Given the description of an element on the screen output the (x, y) to click on. 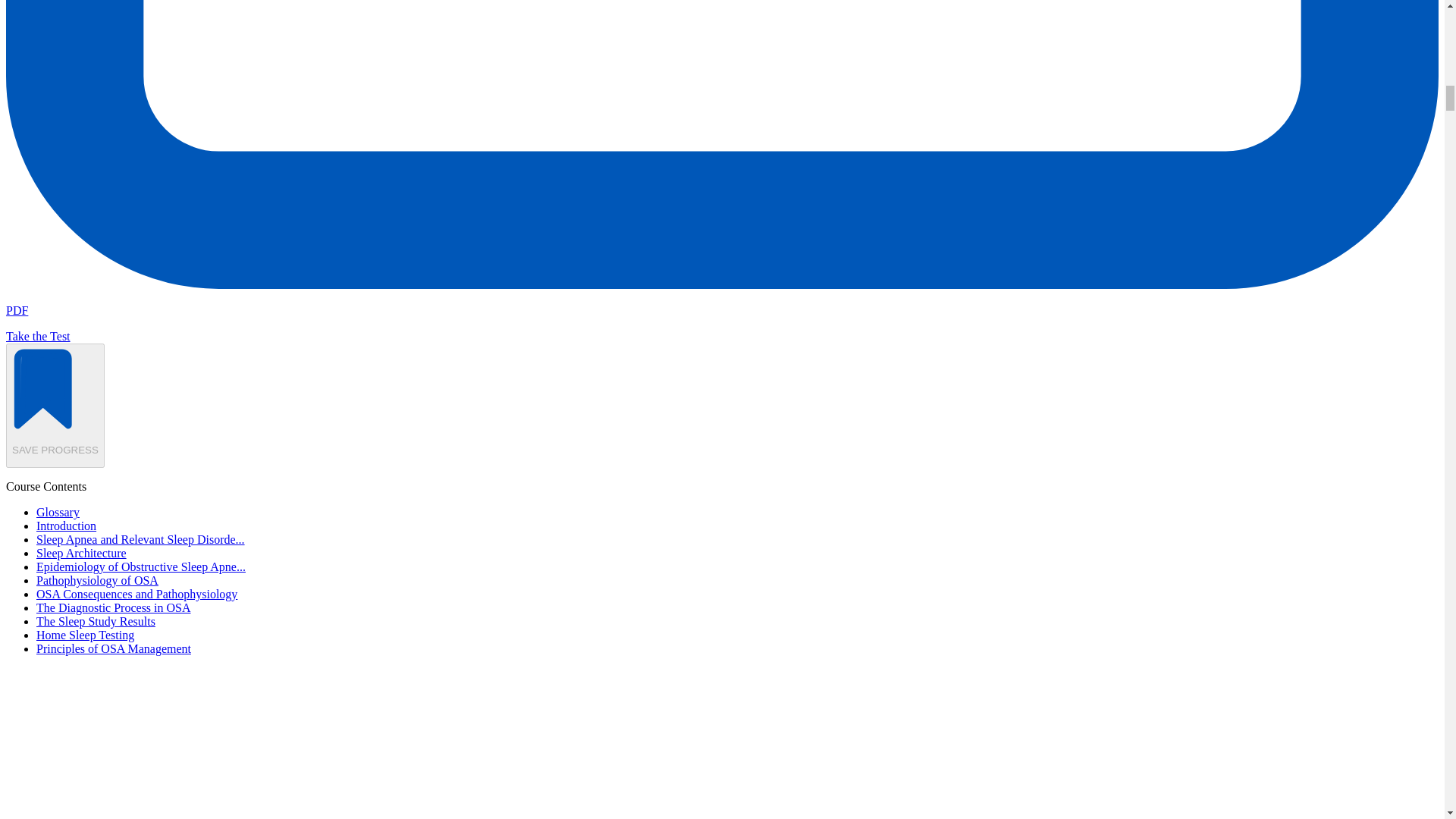
OSA Consequences and Pathophysiology (136, 594)
The Sleep Study Results (95, 621)
Introduction (66, 525)
Epidemiology of Obstructive Sleep Apne... (141, 566)
Take the Test (37, 336)
Pathophysiology of OSA (97, 580)
Sleep Apnea and Relevant Sleep Disorde... (140, 539)
Glossary (58, 512)
Sleep Architecture (81, 553)
Principles of OSA Management (113, 648)
